Given the description of an element on the screen output the (x, y) to click on. 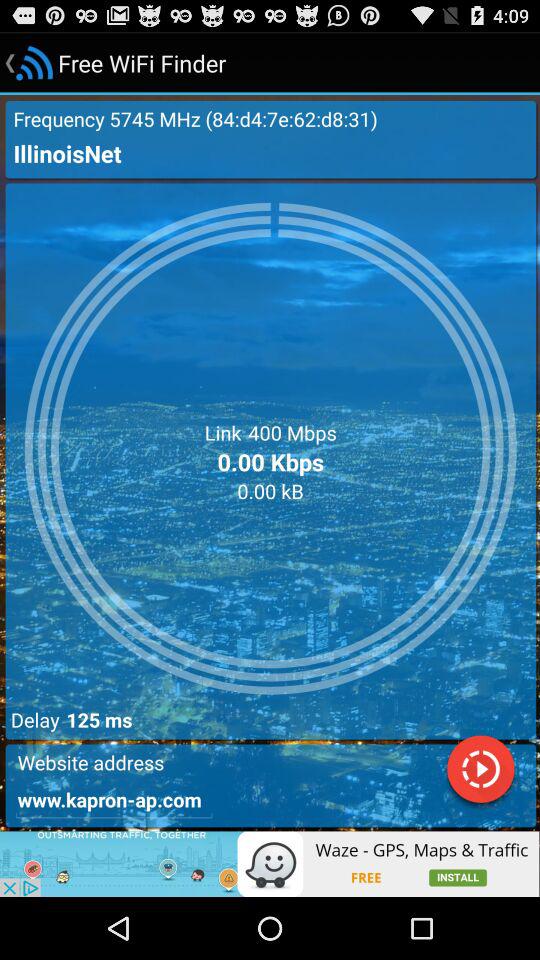
play (480, 772)
